Given the description of an element on the screen output the (x, y) to click on. 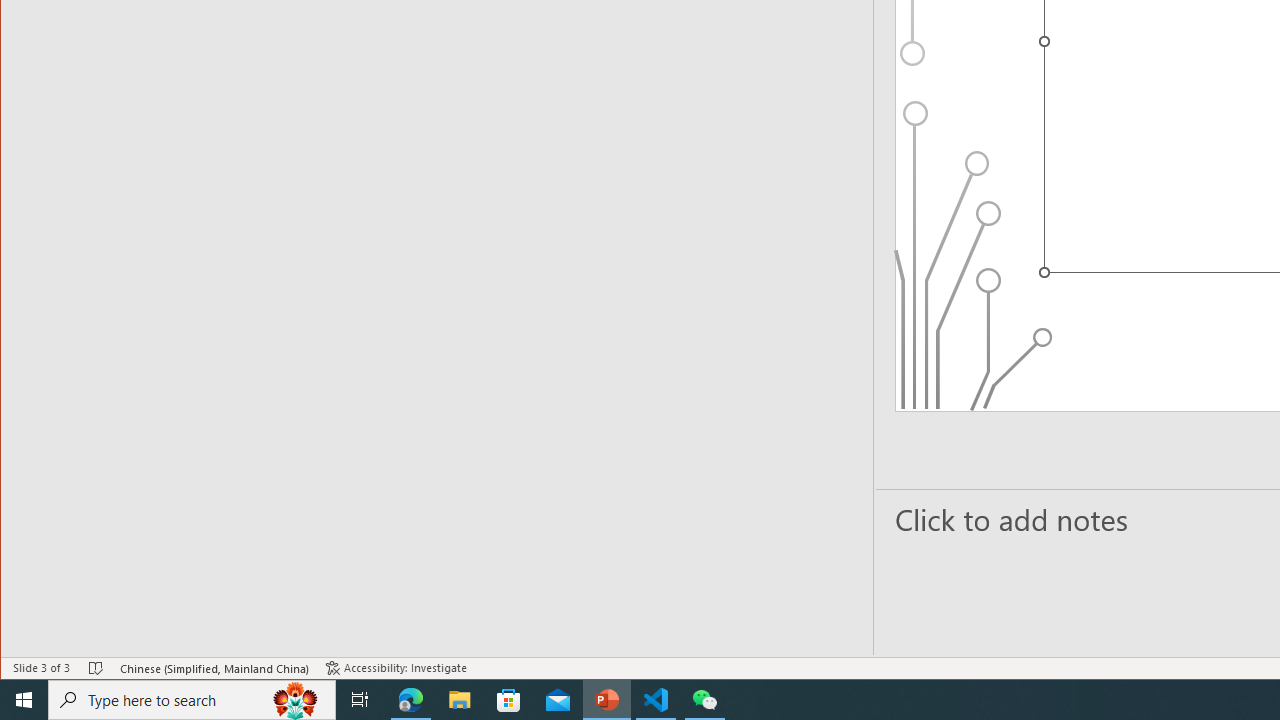
Type here to search (191, 699)
Microsoft Edge - 1 running window (411, 699)
Start (24, 699)
Spell Check No Errors (96, 668)
Accessibility Checker Accessibility: Investigate (395, 668)
File Explorer (460, 699)
Task View (359, 699)
Microsoft Store (509, 699)
WeChat - 1 running window (704, 699)
Search highlights icon opens search home window (295, 699)
PowerPoint - 1 running window (607, 699)
Visual Studio Code - 1 running window (656, 699)
